Given the description of an element on the screen output the (x, y) to click on. 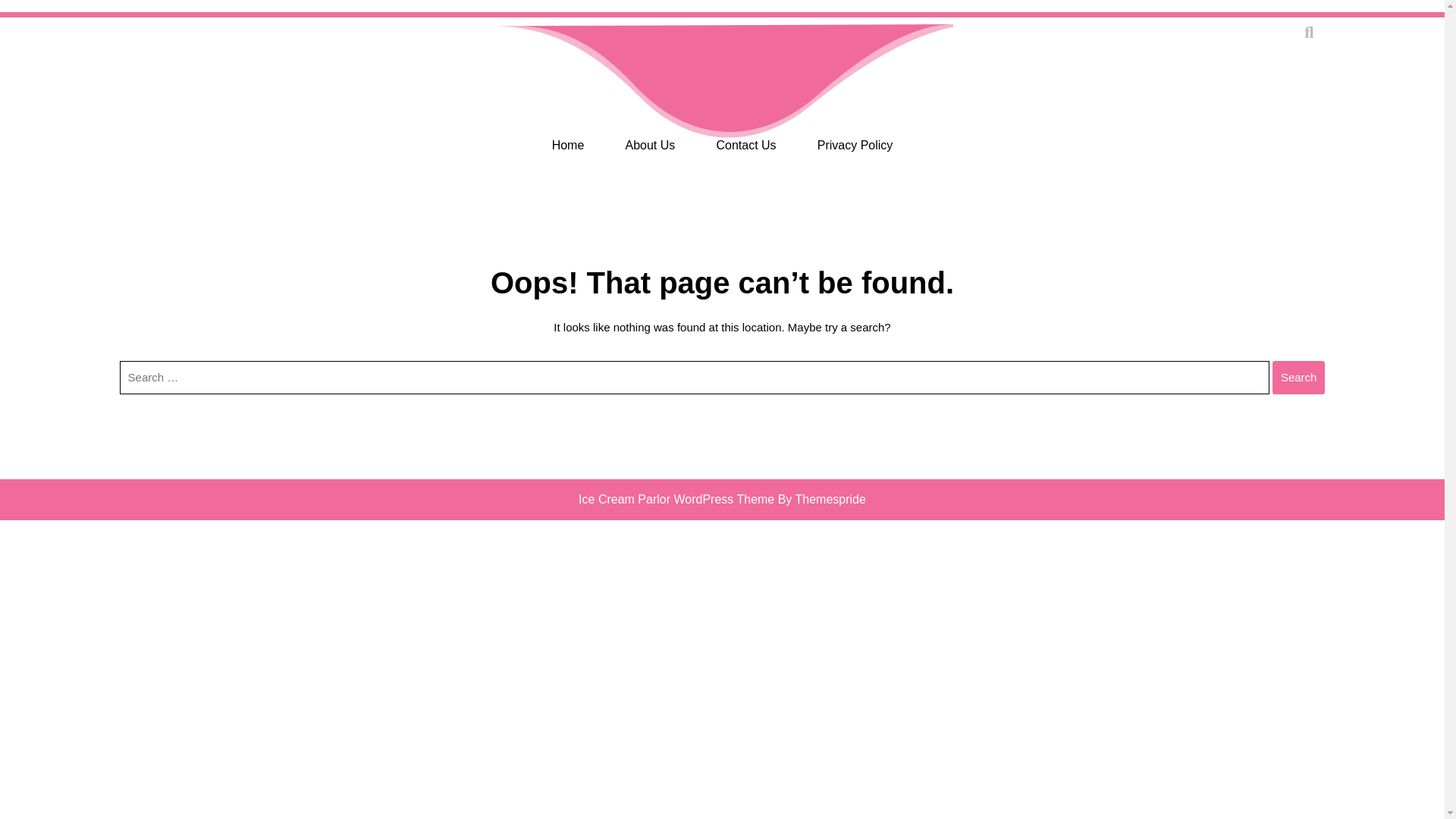
Privacy Policy (855, 145)
About Us (649, 145)
Home (568, 145)
Ice Cream Parlor WordPress Theme (676, 499)
Search (1298, 377)
Contact Us (745, 145)
